Given the description of an element on the screen output the (x, y) to click on. 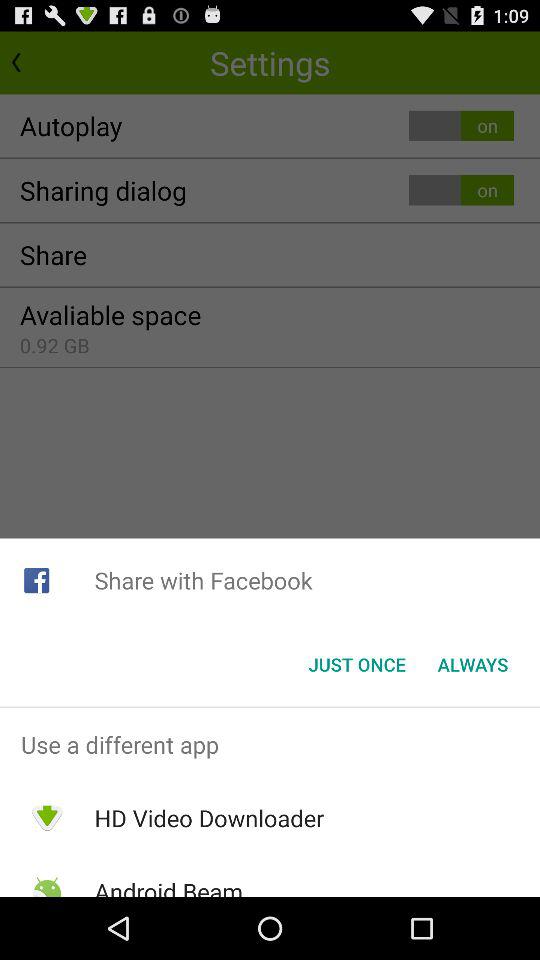
click icon next to the always icon (356, 664)
